Given the description of an element on the screen output the (x, y) to click on. 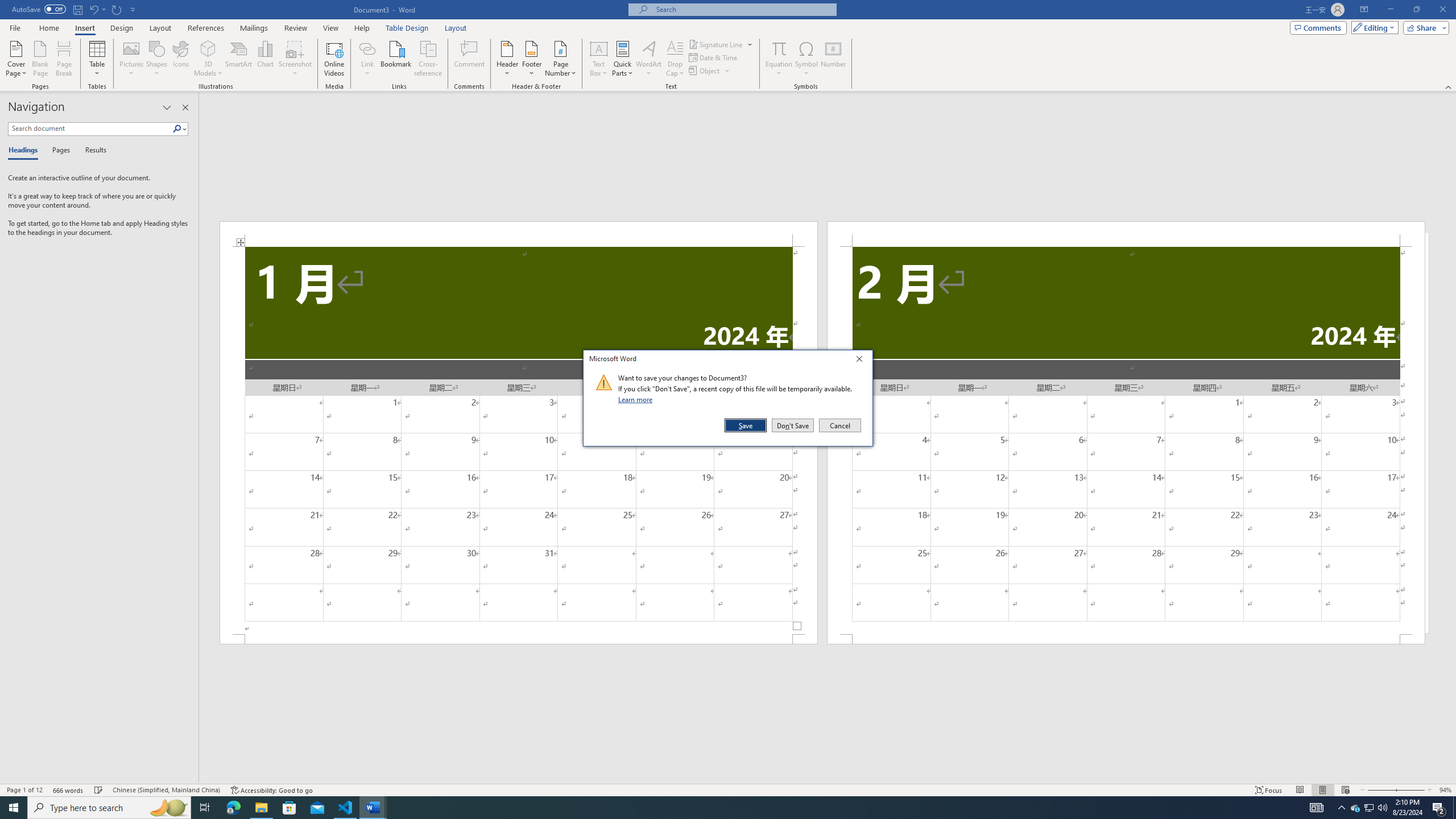
Quick Parts (622, 58)
Icons (180, 58)
Number... (833, 58)
Footer -Section 2- (1126, 638)
Text Box (598, 58)
